Given the description of an element on the screen output the (x, y) to click on. 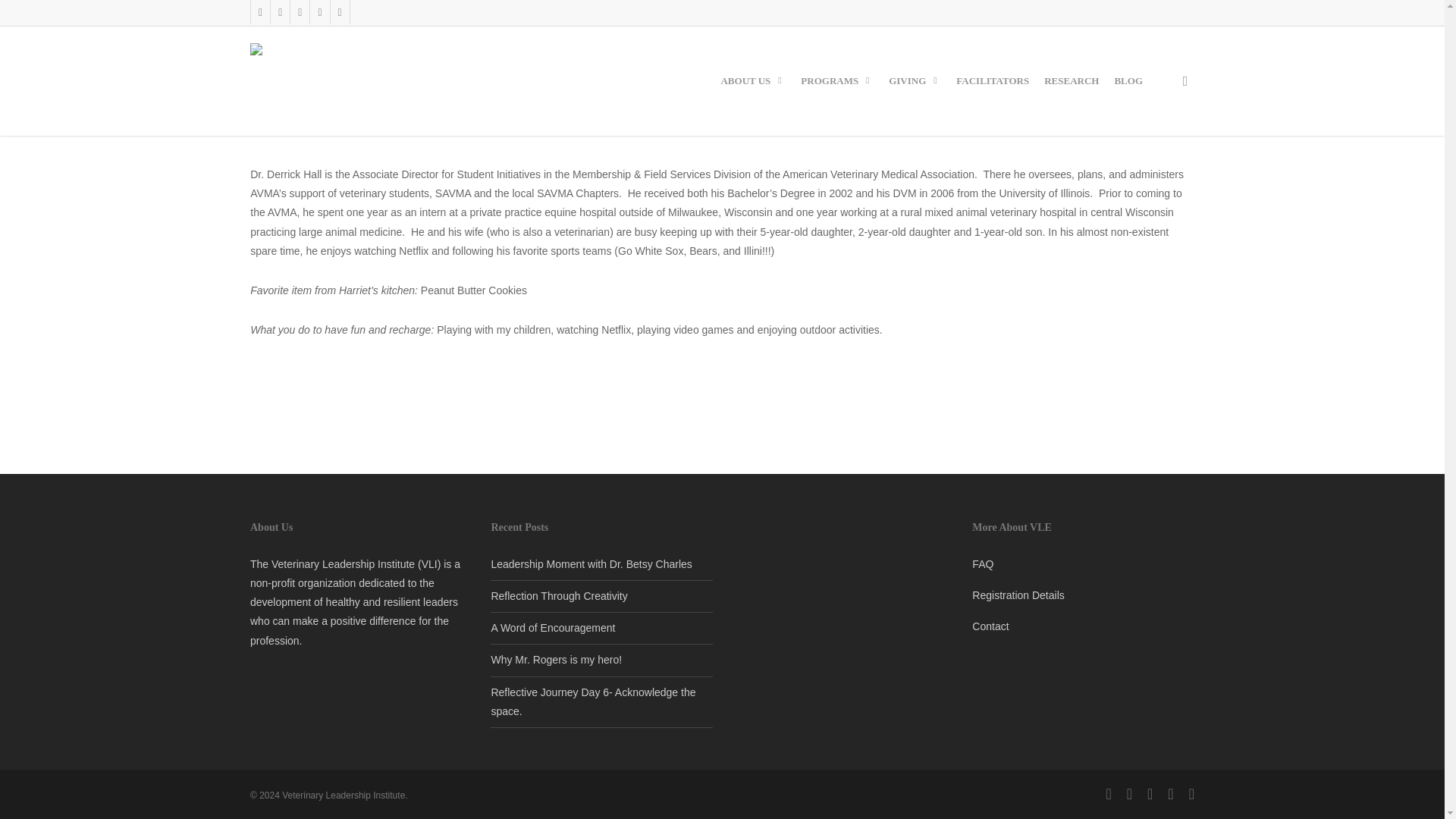
PROGRAMS (836, 80)
BLOG (1127, 80)
Reflection Through Creativity (558, 595)
search (1184, 80)
ABOUT US (753, 80)
GIVING (914, 80)
Leadership Moment with Dr. Betsy Charles (590, 563)
A Word of Encouragement (552, 627)
RESEARCH (1071, 80)
FACILITATORS (992, 80)
